Given the description of an element on the screen output the (x, y) to click on. 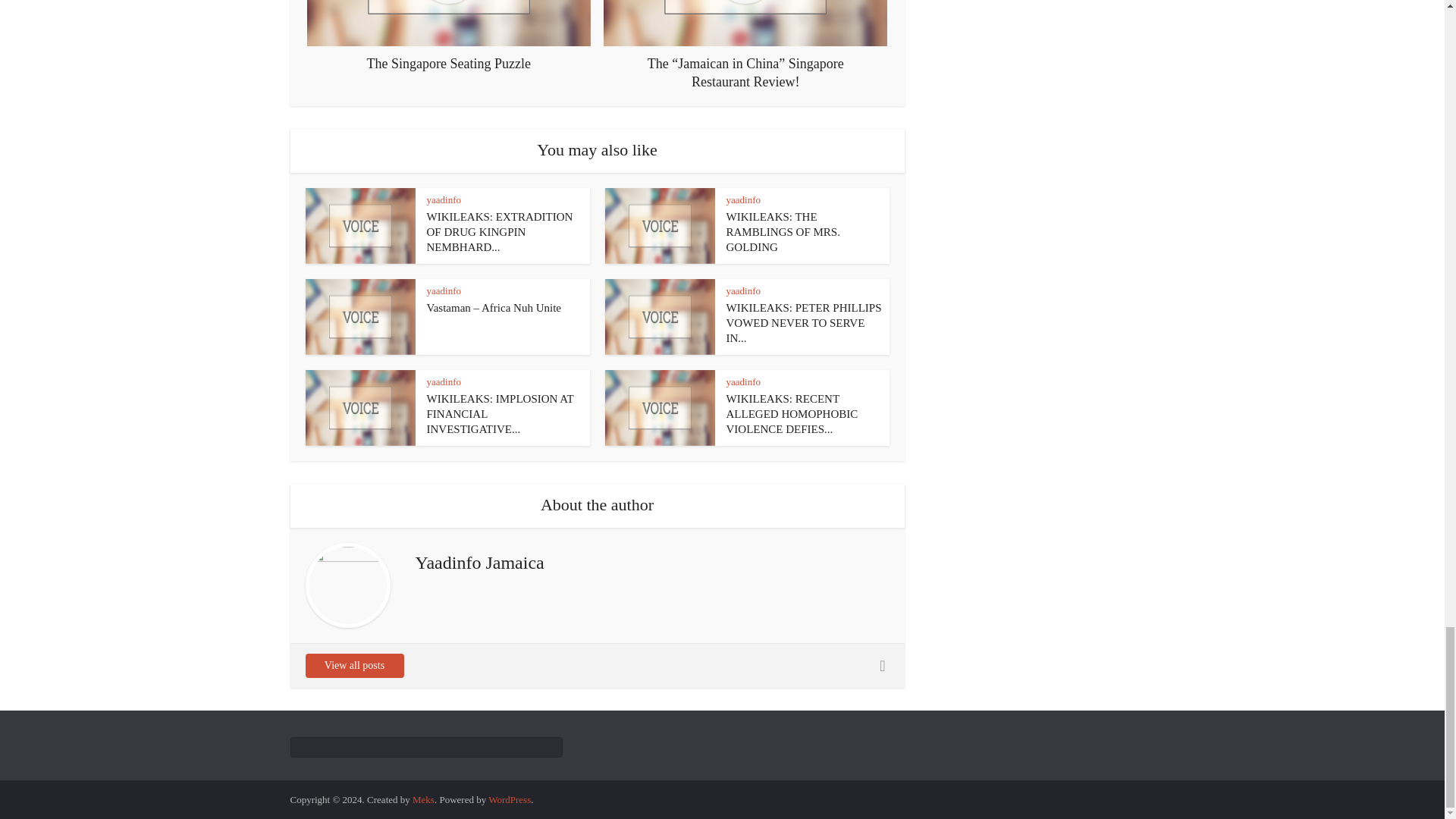
yaadinfo (743, 199)
WIKILEAKS: THE RAMBLINGS OF MRS. GOLDING (783, 231)
WIKILEAKS: EXTRADITION OF DRUG KINGPIN NEMBHARD... (499, 231)
The Singapore Seating Puzzle (449, 36)
yaadinfo (443, 199)
WIKILEAKS: THE RAMBLINGS OF MRS. GOLDING (783, 231)
